Given the description of an element on the screen output the (x, y) to click on. 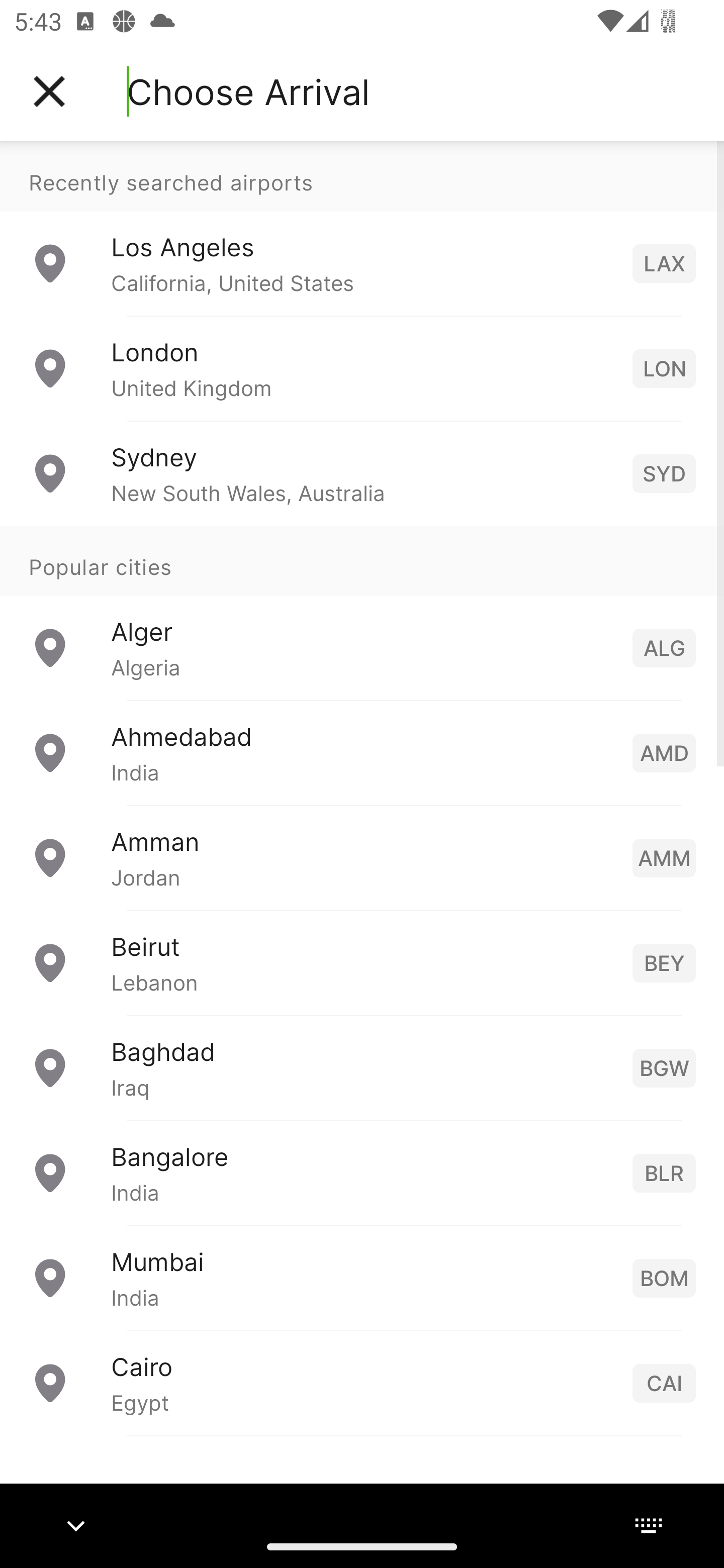
Choose Arrival (247, 91)
Recently searched airports (362, 176)
London United Kingdom LON (362, 367)
Sydney New South Wales, Australia SYD (362, 472)
Popular cities Alger Algeria ALG (362, 612)
Popular cities (362, 560)
Ahmedabad India AMD (362, 751)
Amman Jordan AMM (362, 856)
Beirut Lebanon BEY (362, 961)
Baghdad Iraq BGW (362, 1066)
Bangalore India BLR (362, 1171)
Mumbai India BOM (362, 1276)
Cairo Egypt CAI (362, 1381)
